Given the description of an element on the screen output the (x, y) to click on. 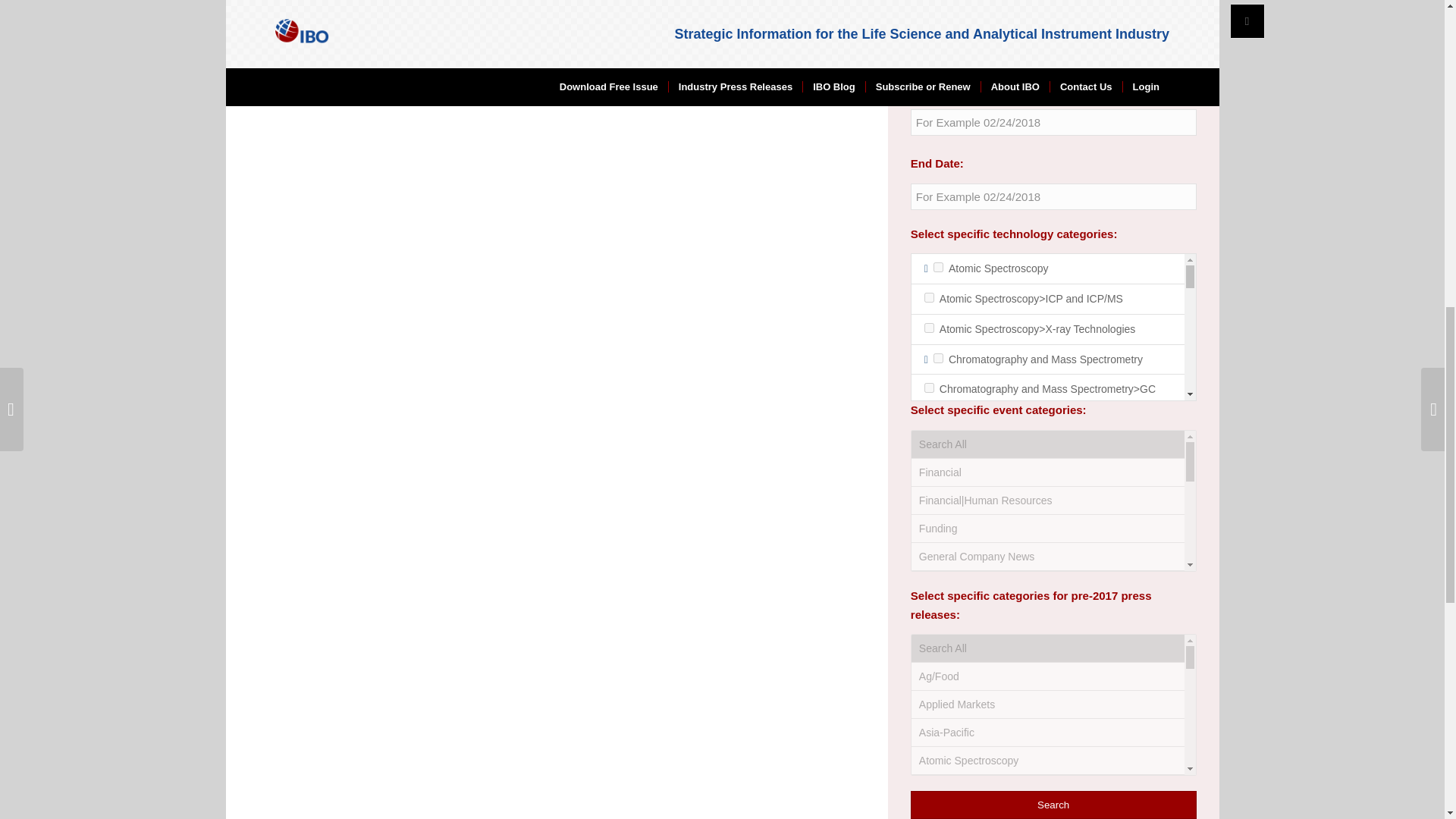
atomic-spectroscopyicp-and-icp-ms (929, 297)
chromatography-and-mass-spectrometrylc (929, 515)
atomic-spectroscopyx-ray-technologies (929, 327)
atomic-spectroscopy (938, 266)
general-laboratory-products (938, 692)
general-laboratory-productsconsumables (929, 723)
chromatography-and-mass-spectrometryroutine-ms (929, 594)
chromatography-and-mass-spectrometry (938, 357)
chromatography-and-mass-spectrometrygc (929, 388)
chromatography-and-mass-spectrometryother-chromatography (929, 546)
